Given the description of an element on the screen output the (x, y) to click on. 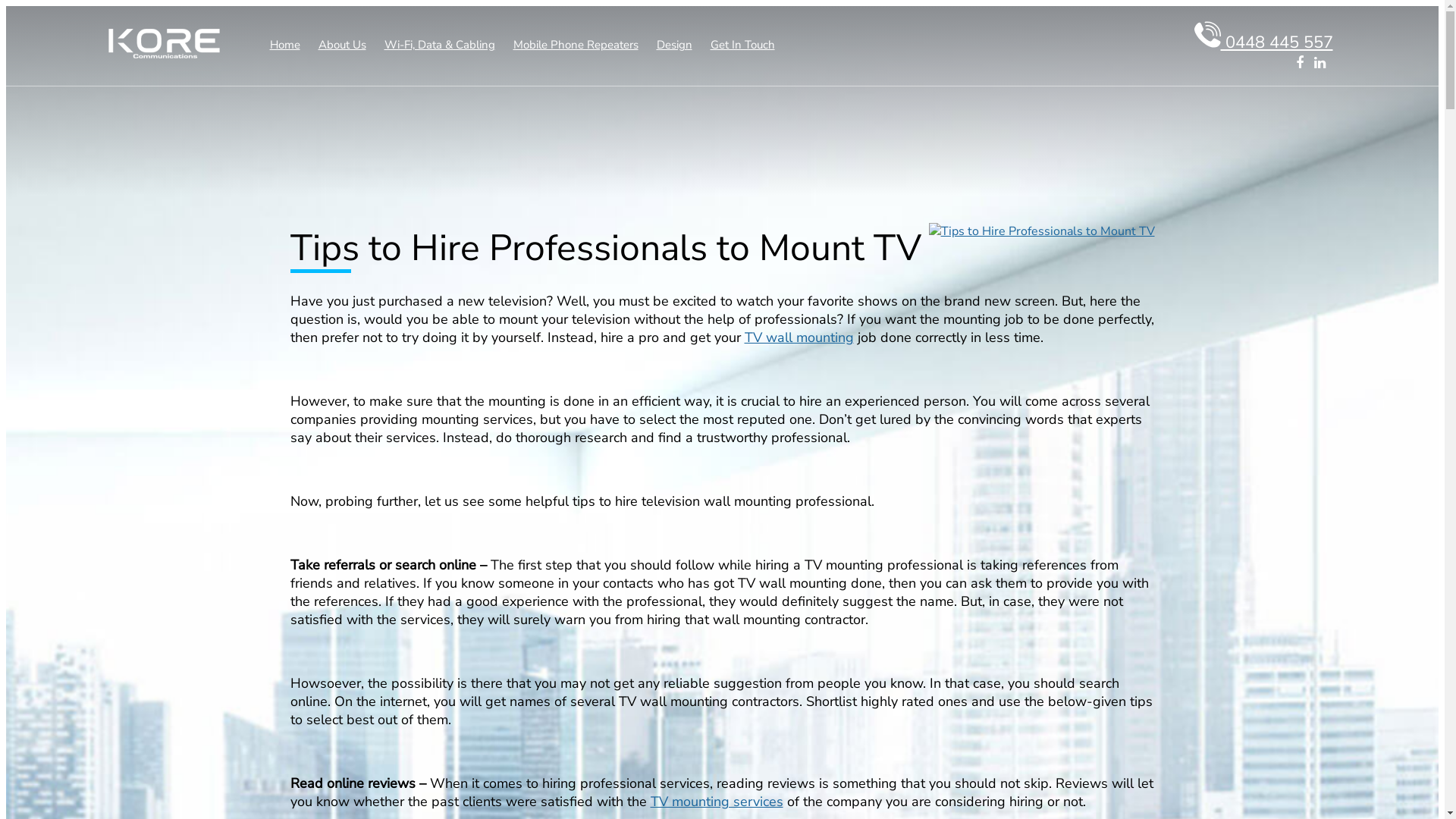
Wi-Fi, Data & Cabling Element type: text (438, 44)
TV mounting services Element type: text (716, 801)
About Us Element type: text (342, 44)
Get In Touch Element type: text (741, 44)
Design Element type: text (674, 44)
Mobile Phone Repeaters Element type: text (574, 44)
Home Element type: text (284, 44)
TV wall mounting Element type: text (798, 337)
0448 445 557 Element type: text (1262, 42)
